Given the description of an element on the screen output the (x, y) to click on. 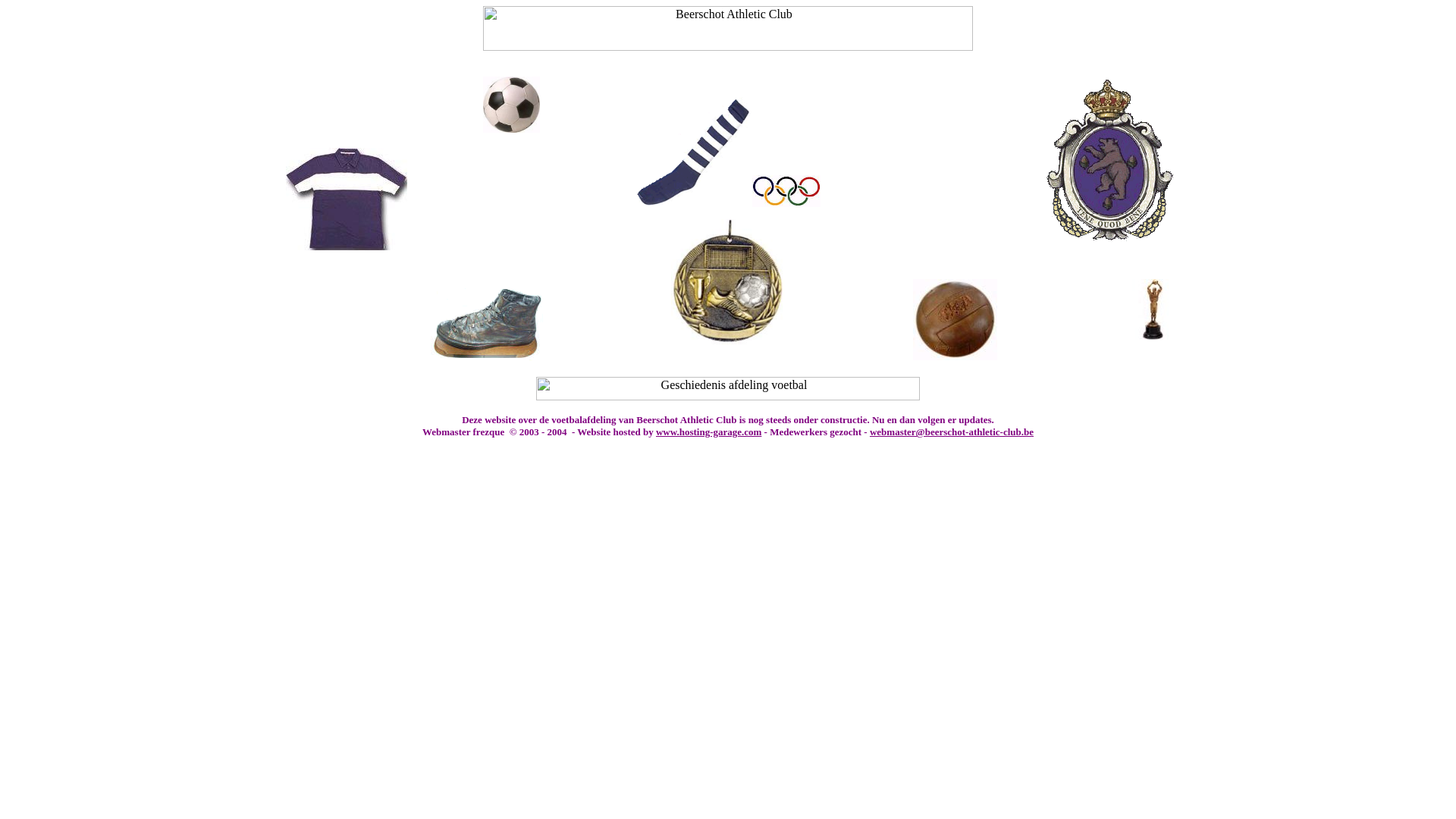
Het ontstaan van Beerschot Athletic Club. Element type: hover (511, 128)
webmaster@beerschot-athletic-club.be Element type: text (951, 431)
De sterren van het Kiel. Element type: hover (346, 245)
De Olympische Spelen van 1920 in het Beerschotstadion. Element type: hover (786, 201)
Het eerste voetbalseizoen van Beerschot Athletic Club. Element type: hover (693, 201)
Beerschot Athletic Club : Statistieken. Element type: hover (727, 339)
Beerschot verhalen allerlei. Element type: hover (1152, 335)
www.hosting-garage.com Element type: text (708, 431)
Er is al eeuwenlang Beerschot. Element type: hover (1108, 236)
